Given the description of an element on the screen output the (x, y) to click on. 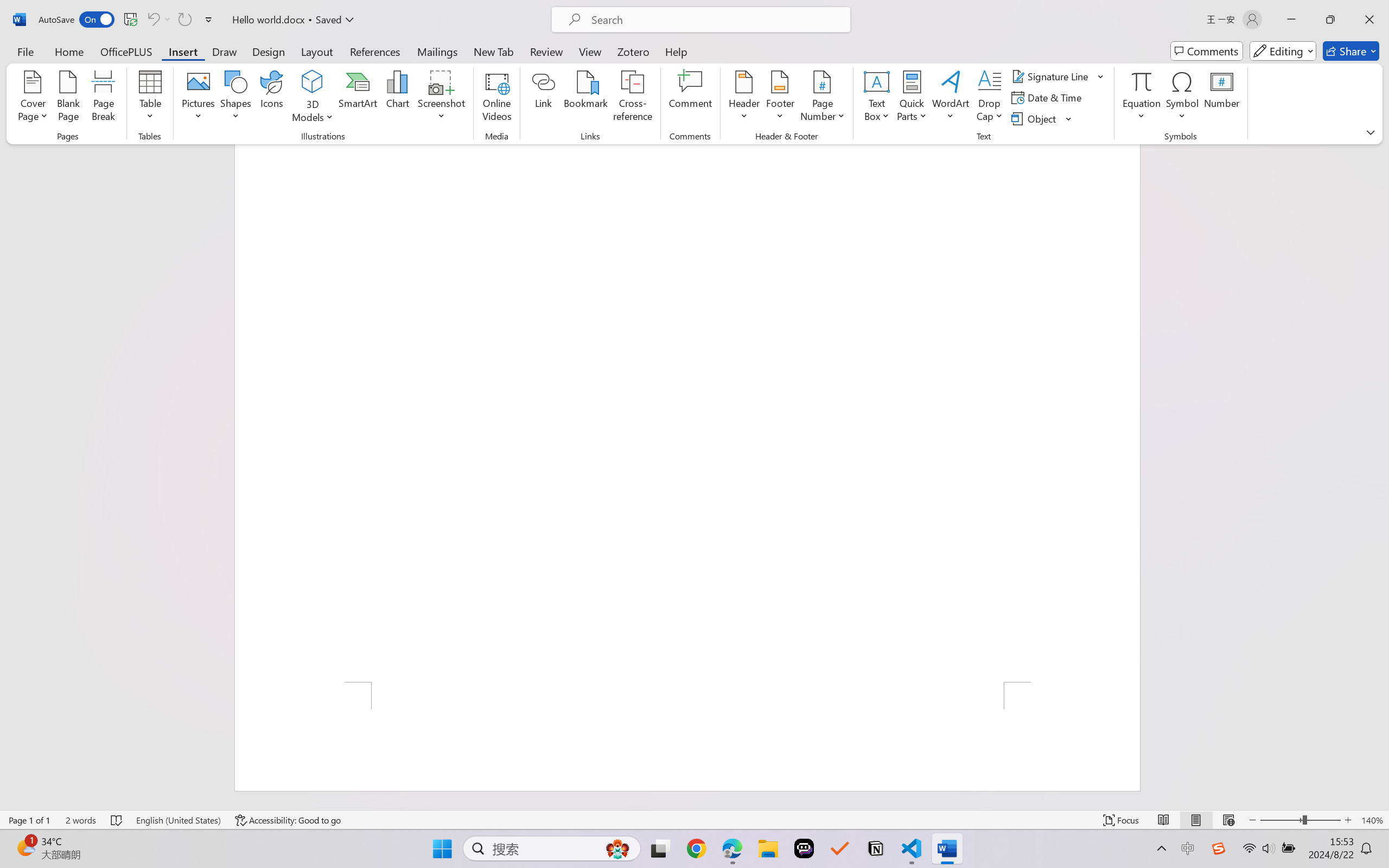
Mode (1283, 50)
OfficePLUS (126, 51)
Can't Undo (152, 19)
Close (1369, 19)
Restore Down (1330, 19)
Design (268, 51)
Mailings (437, 51)
Customize Quick Access Toolbar (208, 19)
Google Chrome (696, 848)
Review (546, 51)
